Given the description of an element on the screen output the (x, y) to click on. 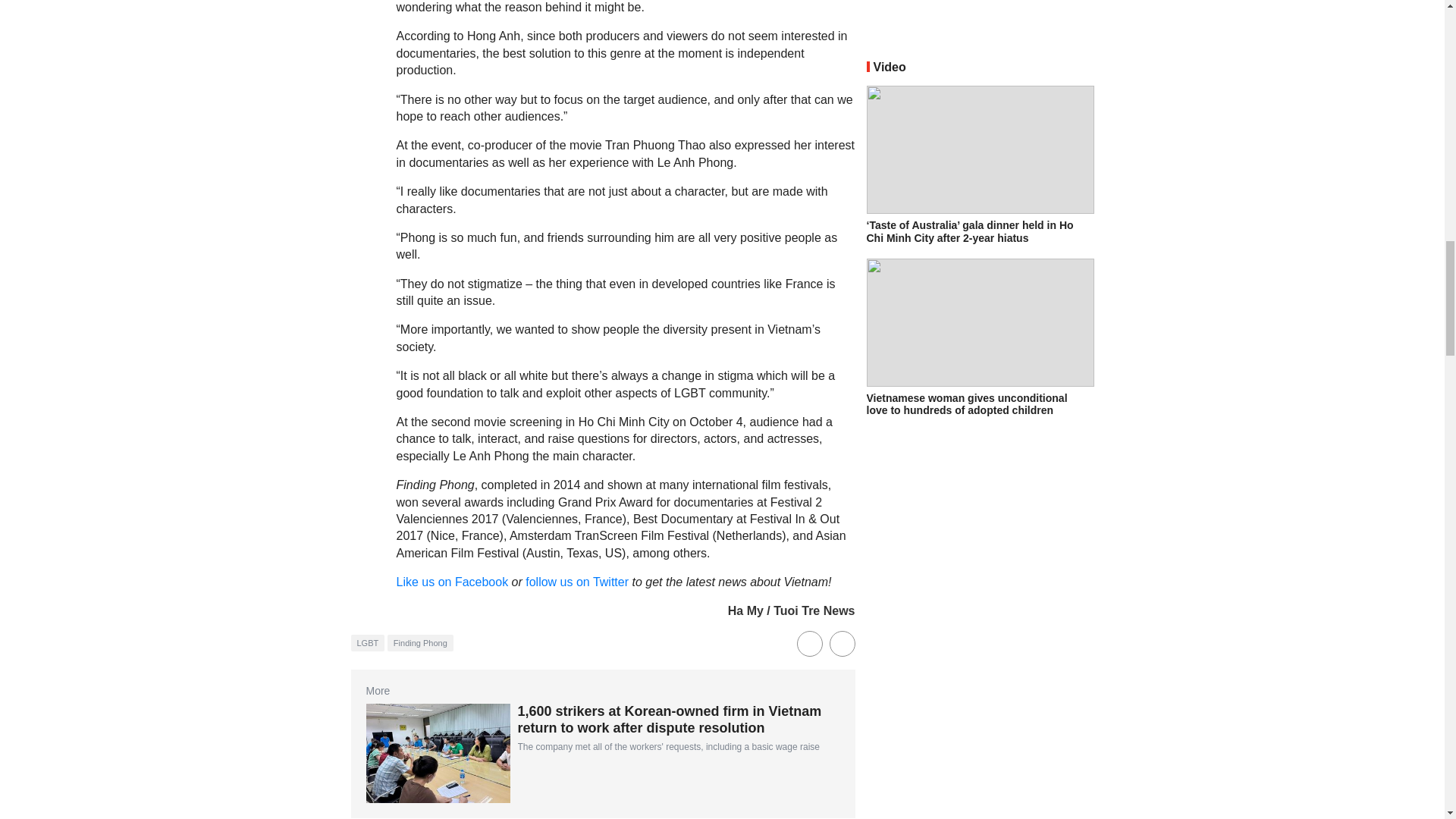
follow us on Twitter (576, 581)
Like us on Facebook  (453, 581)
